Given the description of an element on the screen output the (x, y) to click on. 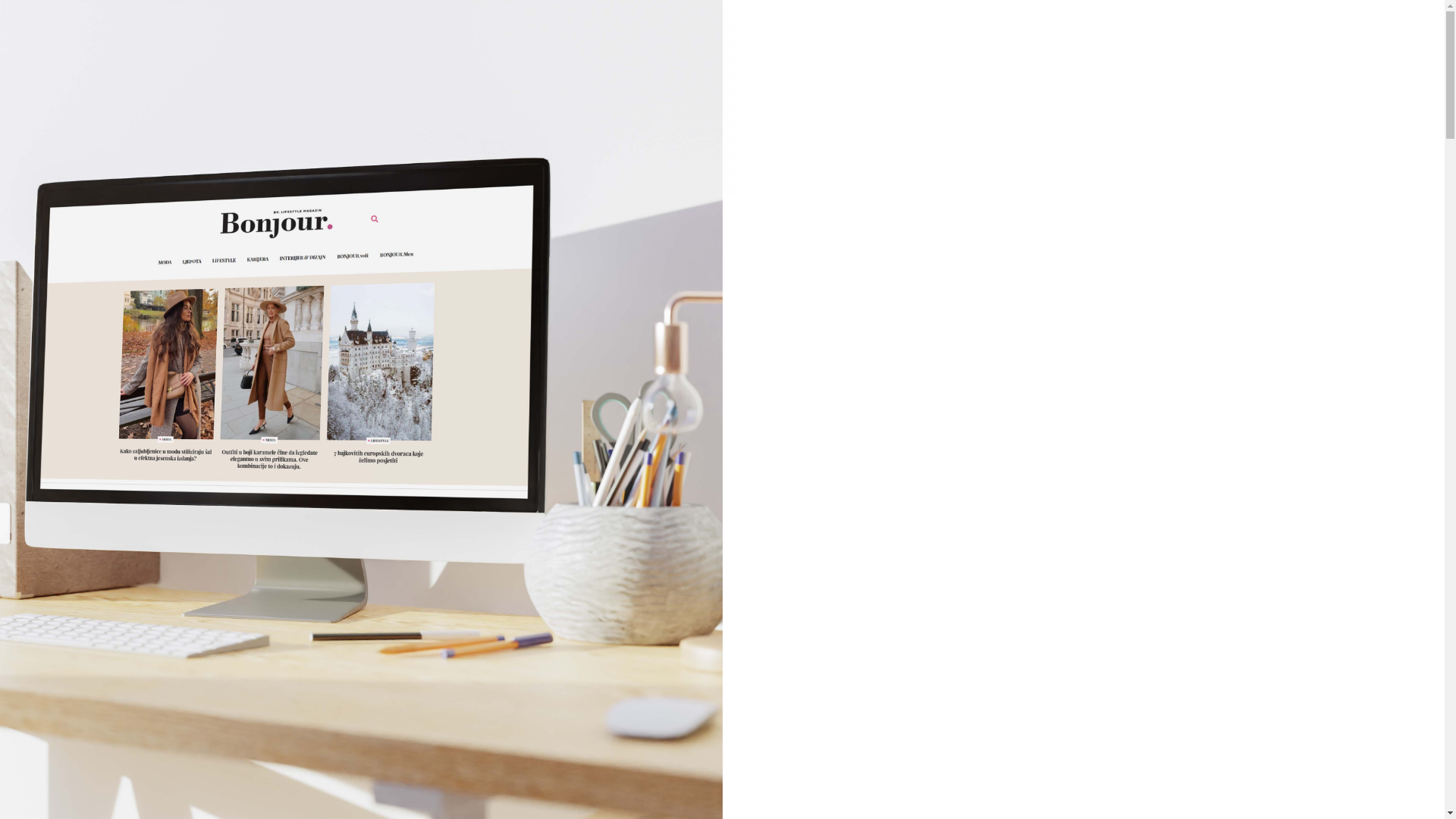
Makeup Element type: text (758, 687)
Zdravlje i njega Element type: text (758, 725)
LJEPOTA Element type: text (743, 574)
High street Element type: text (758, 384)
Modne vijesti Element type: text (758, 422)
3rd party ad content Element type: hover (373, 100)
Kosa Element type: text (758, 649)
Street style Element type: text (758, 536)
Stilski savjeti Element type: text (758, 498)
MODA Element type: text (743, 346)
LIFESTYLE Element type: text (743, 763)
Beauty savjeti Element type: text (758, 611)
Modni dodaci Element type: text (758, 460)
